Given the description of an element on the screen output the (x, y) to click on. 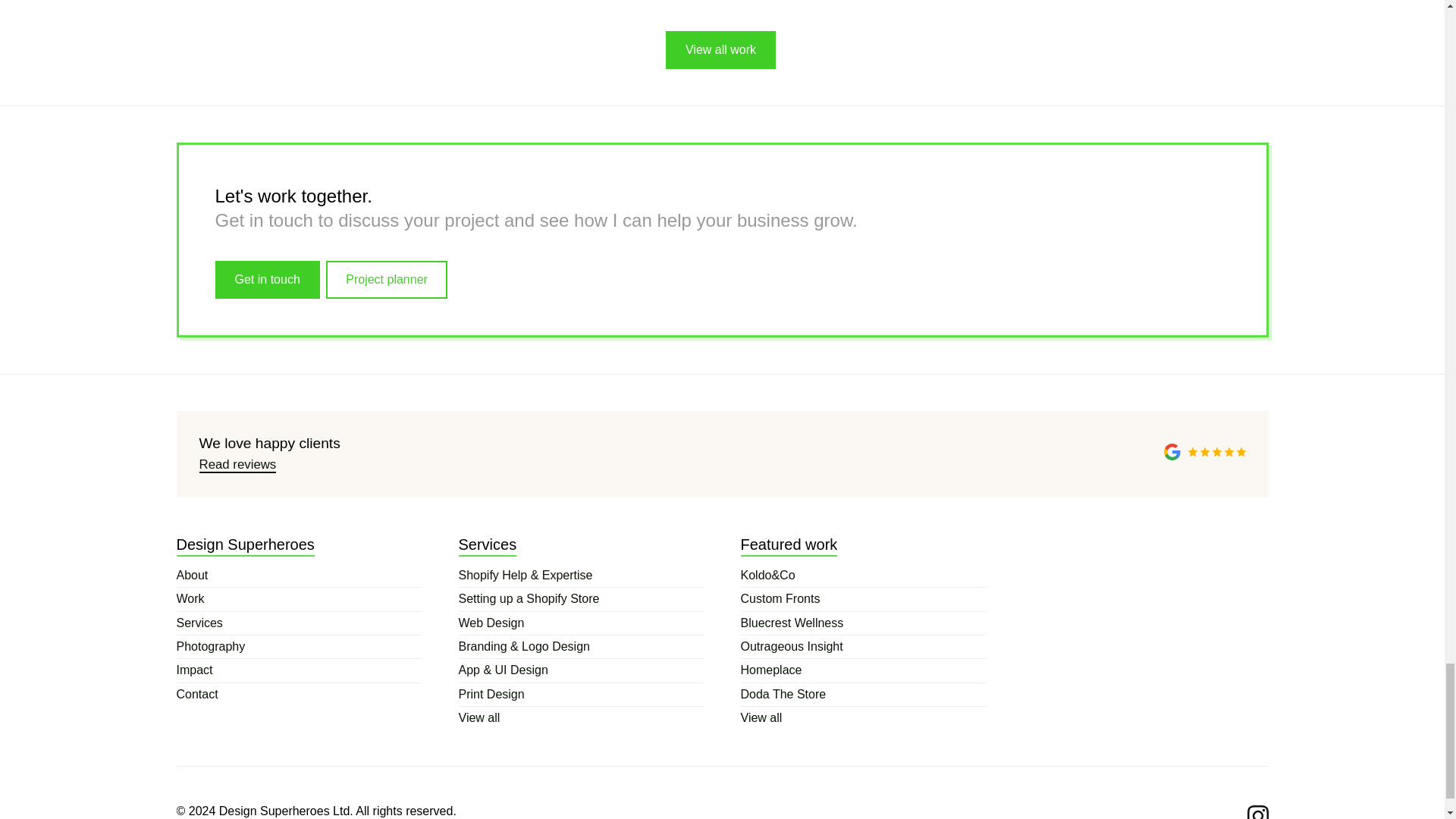
View our Ecologi profile (1097, 595)
Services (299, 622)
View all work (720, 49)
View all (580, 717)
Impact (299, 670)
Outrageous Insight (862, 646)
Web Design (580, 622)
Homeplace (862, 670)
Print Design (580, 694)
Contact (299, 694)
Bluecrest Wellness (862, 622)
Work (299, 599)
Read reviews (237, 465)
View all (862, 717)
Custom Fronts (862, 599)
